Given the description of an element on the screen output the (x, y) to click on. 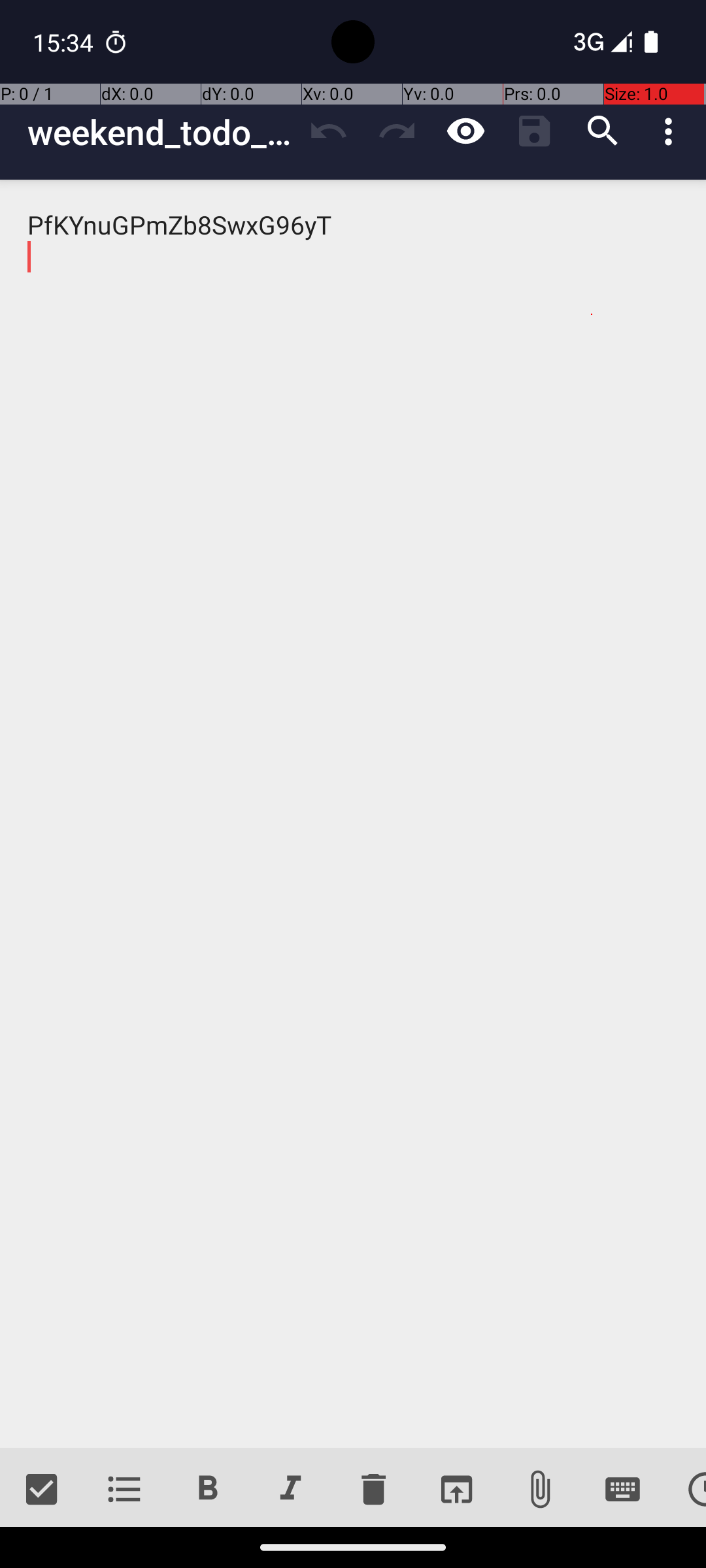
weekend_todo_list_Rx78 Element type: android.widget.TextView (160, 131)
PfKYnuGPmZb8SwxG96yT
 Element type: android.widget.EditText (353, 813)
